Given the description of an element on the screen output the (x, y) to click on. 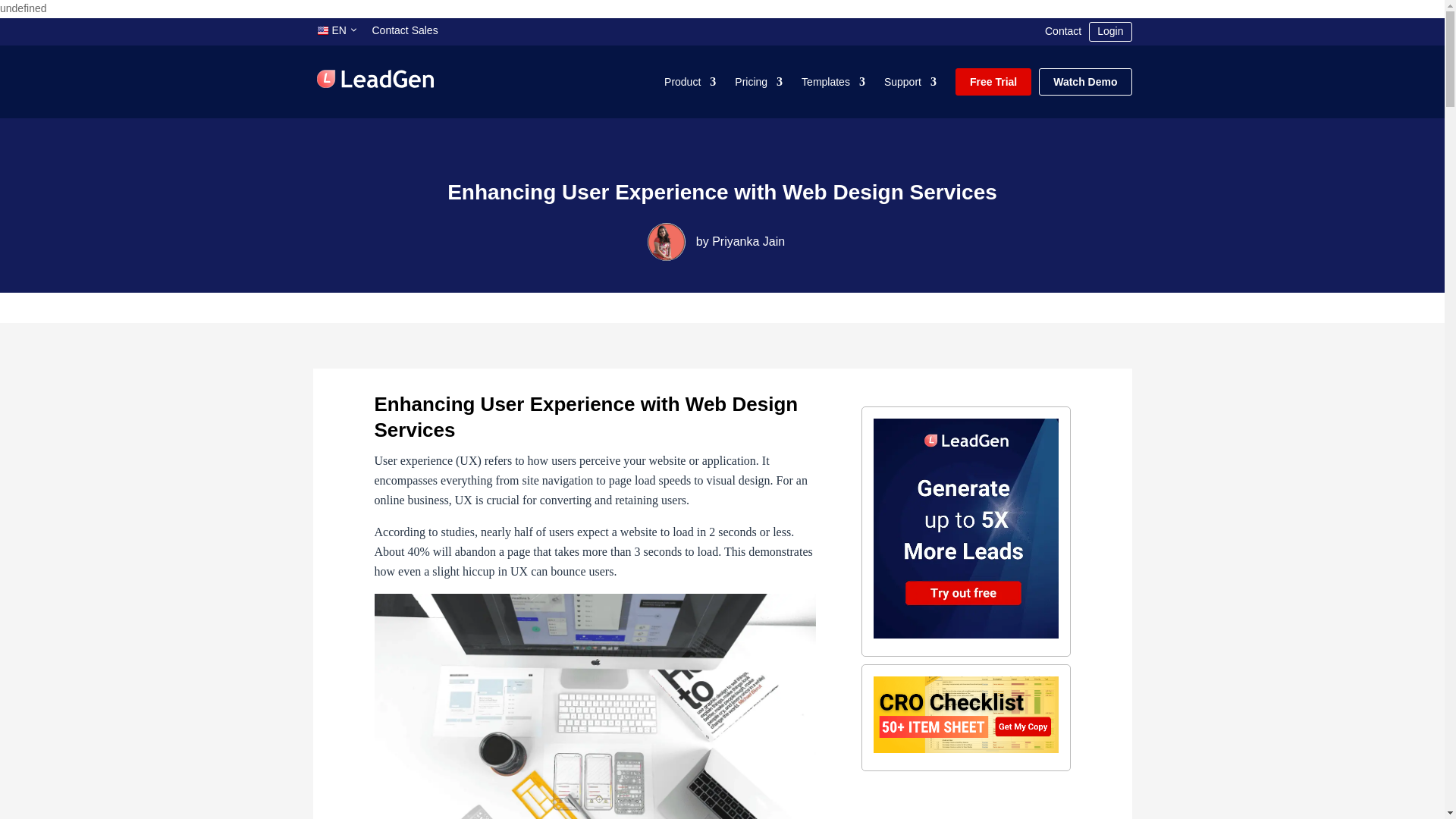
Contact Sales (404, 31)
Login (1110, 31)
Templates (833, 81)
Pricing (759, 81)
Contact (1062, 31)
Product (689, 81)
author-img (666, 241)
EN (338, 30)
